Given the description of an element on the screen output the (x, y) to click on. 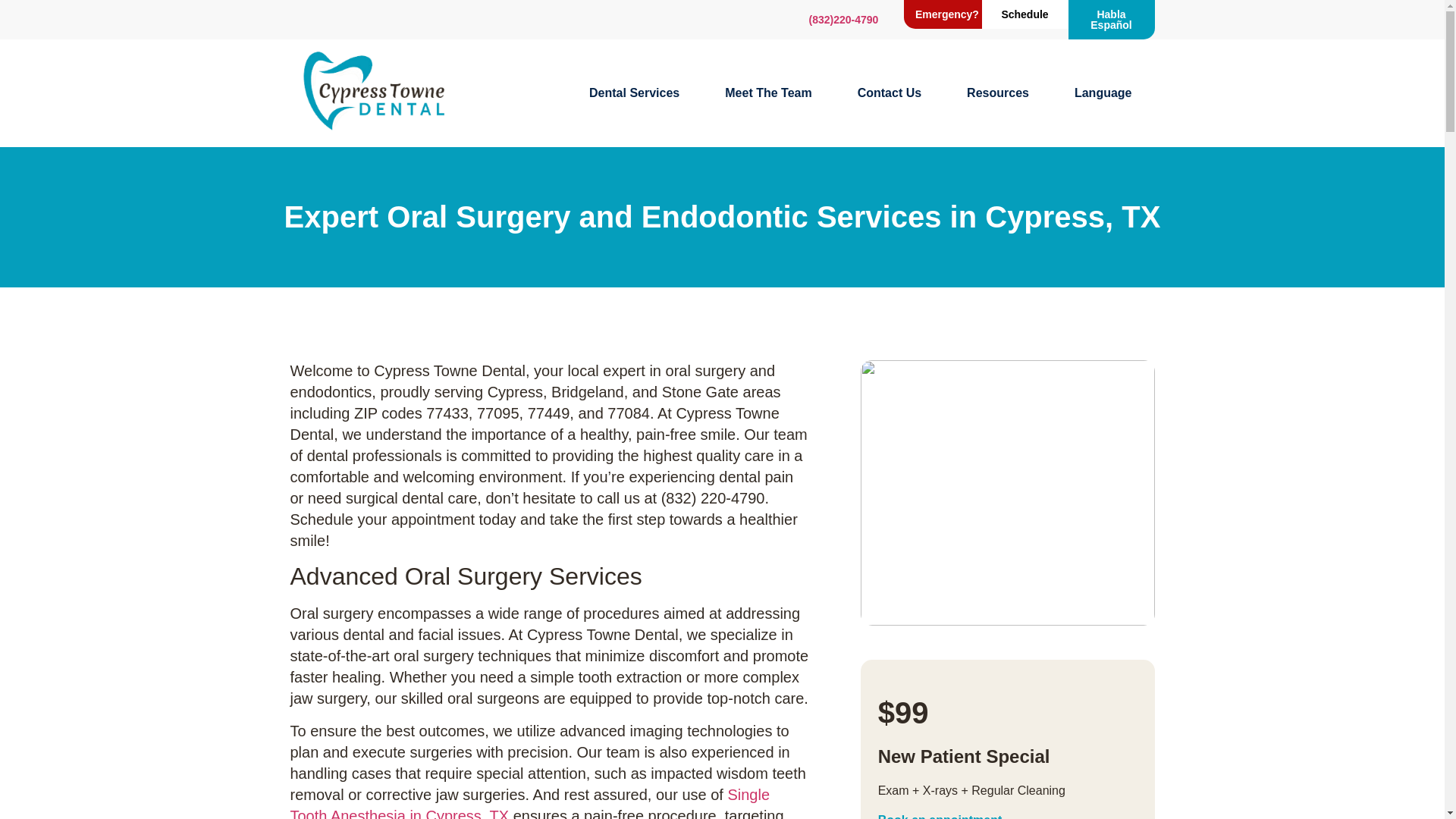
Dental Services (633, 93)
Emergency? (947, 14)
Schedule (1024, 14)
